Given the description of an element on the screen output the (x, y) to click on. 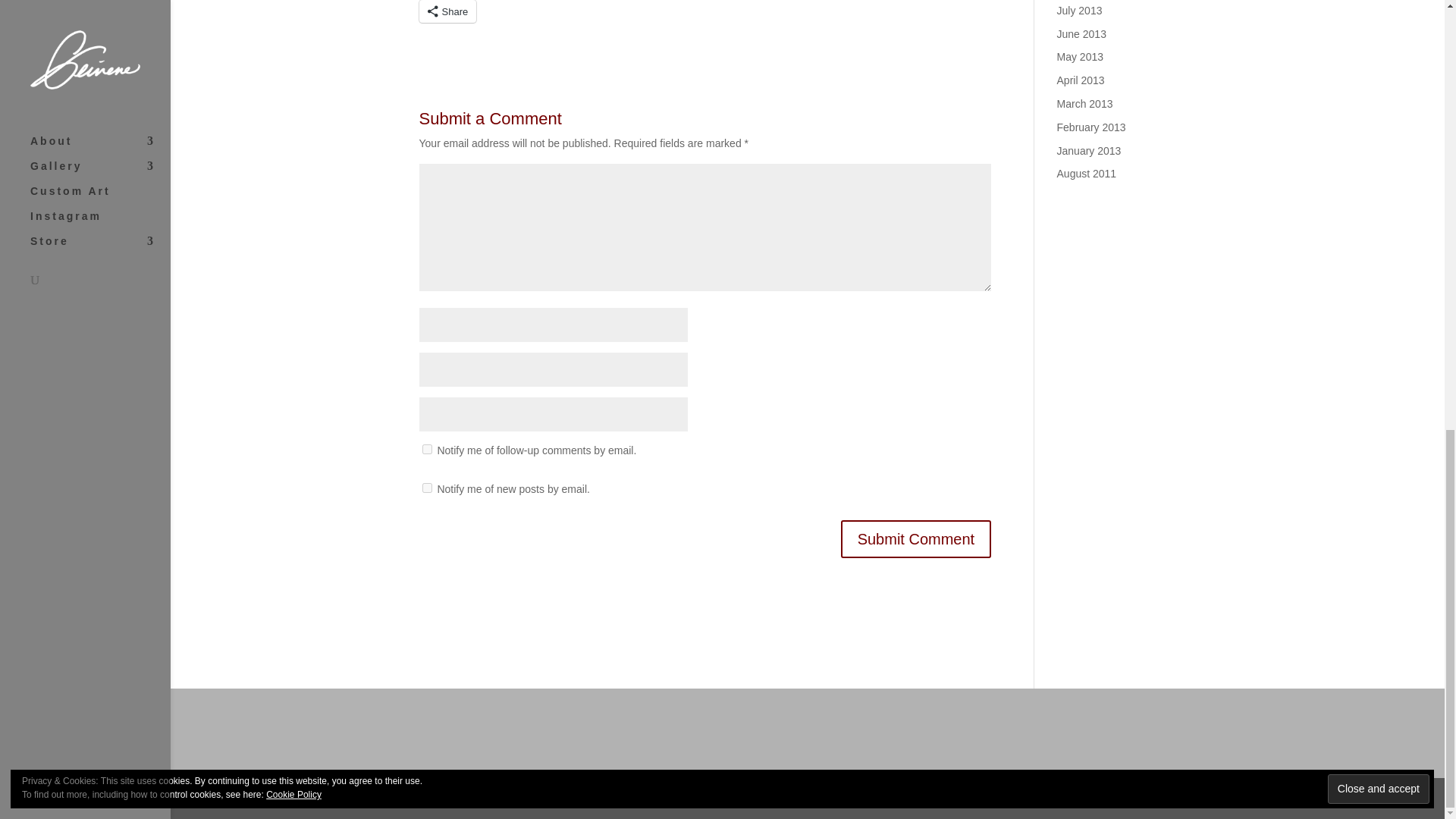
Submit Comment (916, 538)
subscribe (426, 488)
subscribe (426, 449)
